Given the description of an element on the screen output the (x, y) to click on. 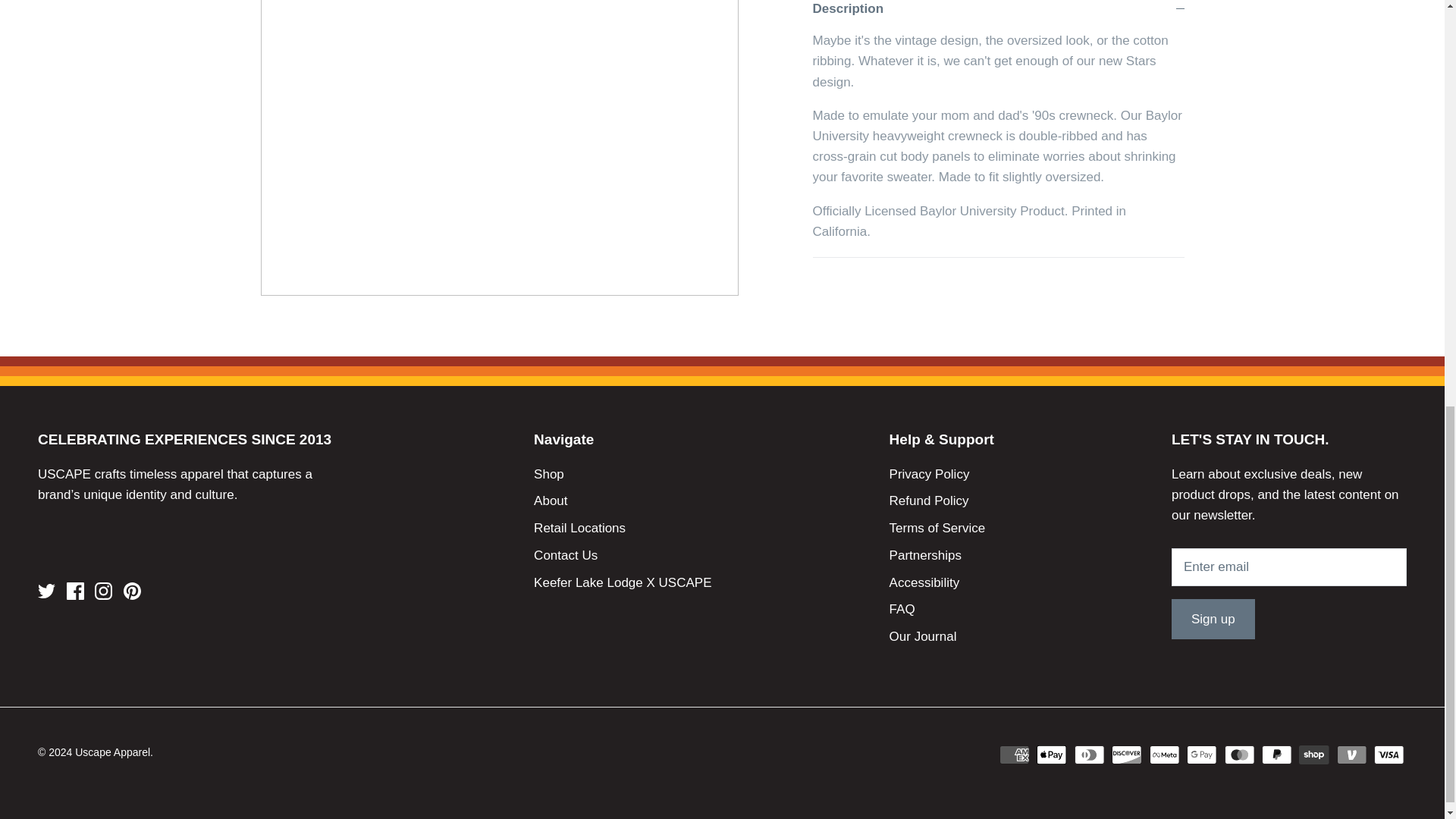
American Express (1013, 754)
Instagram (103, 590)
Apple Pay (1051, 754)
Facebook (75, 590)
Pinterest (132, 590)
Google Pay (1201, 754)
Twitter (46, 590)
Diners Club (1089, 754)
Discover (1126, 754)
Meta Pay (1164, 754)
